Given the description of an element on the screen output the (x, y) to click on. 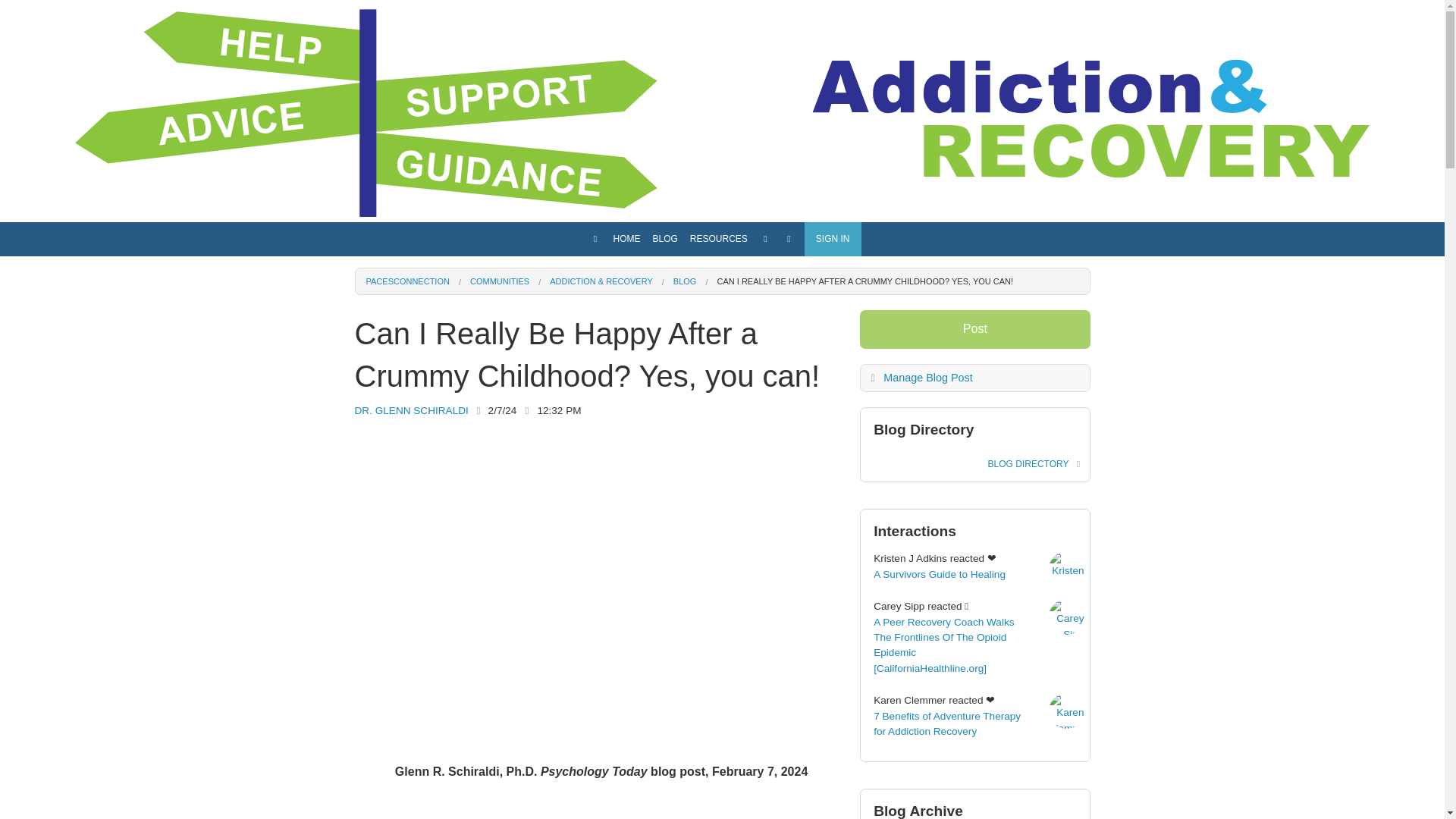
VIEW ALL (664, 269)
PACESCONNECTION (406, 280)
COMMUNITIES (499, 280)
Top-Level Home (594, 238)
VIDEOS (719, 348)
AUDIO (719, 375)
RESOURCES (719, 238)
SIGN IN (833, 238)
DR. GLENN SCHIRALDI (411, 410)
ALL CATEGORIES (719, 295)
